Given the description of an element on the screen output the (x, y) to click on. 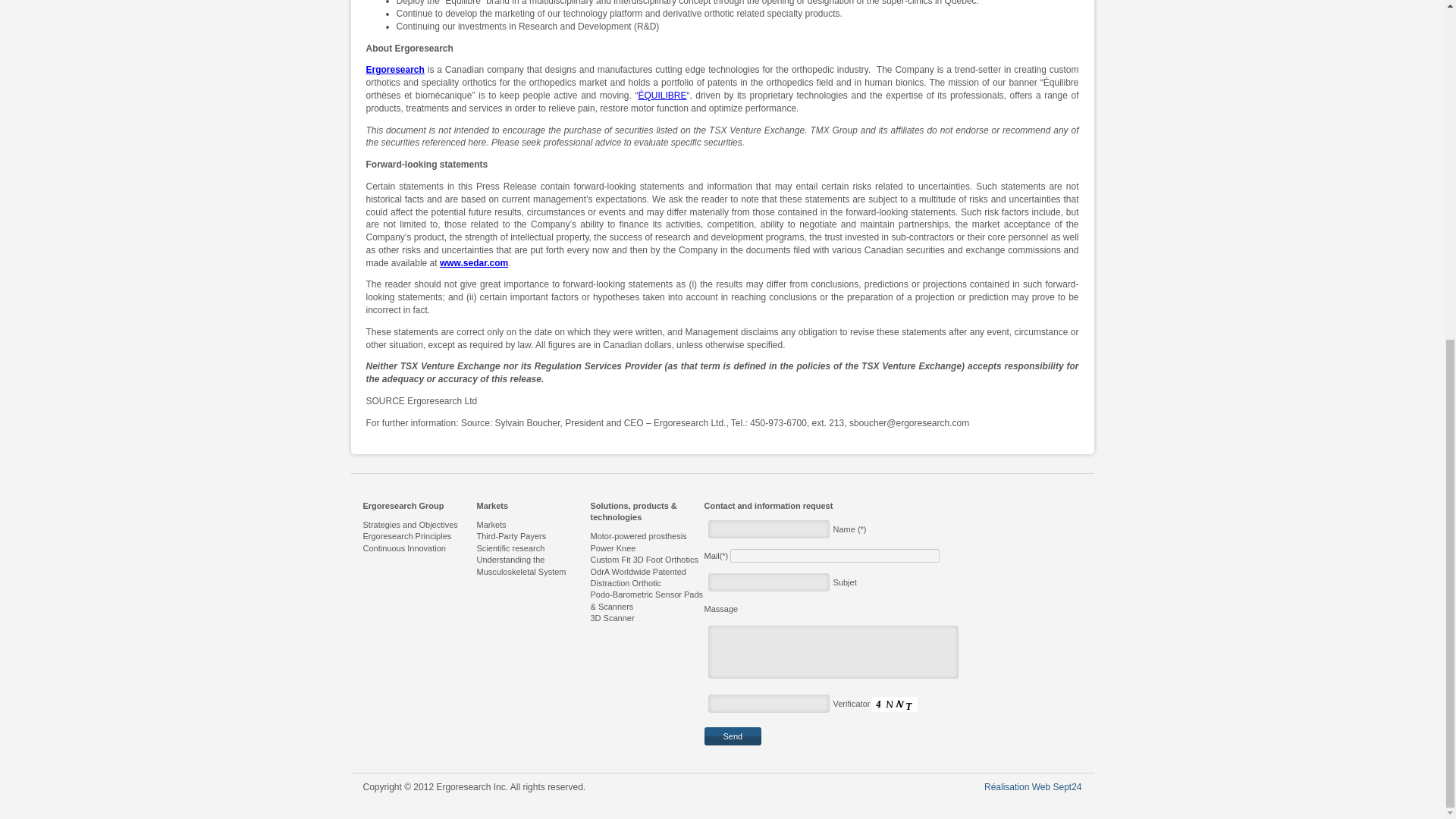
Understanding the Musculoskeletal System (532, 566)
Markets (532, 524)
Ergoresearch Principles (419, 536)
Scientific research (532, 548)
Third-Party Payers (532, 536)
Continuous Innovation (419, 548)
Motor-powered prosthesis Power Knee (646, 542)
Ergoresearch (394, 69)
Send (732, 736)
Markets (532, 505)
Strategies and Objectives (419, 524)
Ergoresearch Group (419, 505)
www.sedar.com (473, 262)
Custom Fit 3D Foot Orthotics (646, 559)
